Given the description of an element on the screen output the (x, y) to click on. 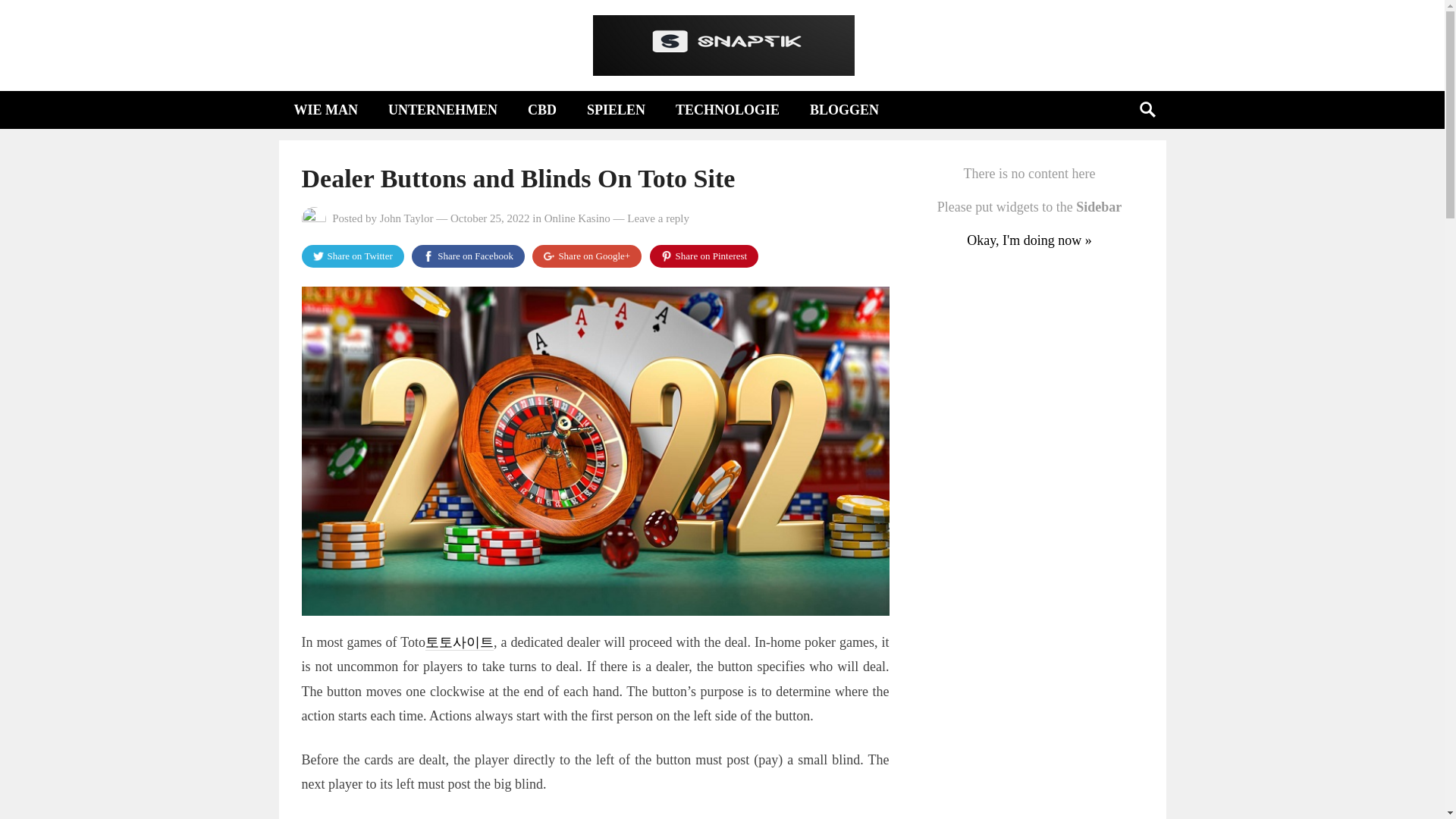
View all posts in Online Kasino (577, 218)
John Taylor (406, 218)
TECHNOLOGIE (727, 109)
Online Kasino (577, 218)
Leave a reply (657, 218)
BLOGGEN (843, 109)
SPIELEN (616, 109)
Posts by John Taylor (406, 218)
Share on Twitter (352, 255)
Share on Pinterest (703, 255)
Share on Facebook (468, 255)
UNTERNEHMEN (442, 109)
WIE MAN (326, 109)
CBD (542, 109)
